Given the description of an element on the screen output the (x, y) to click on. 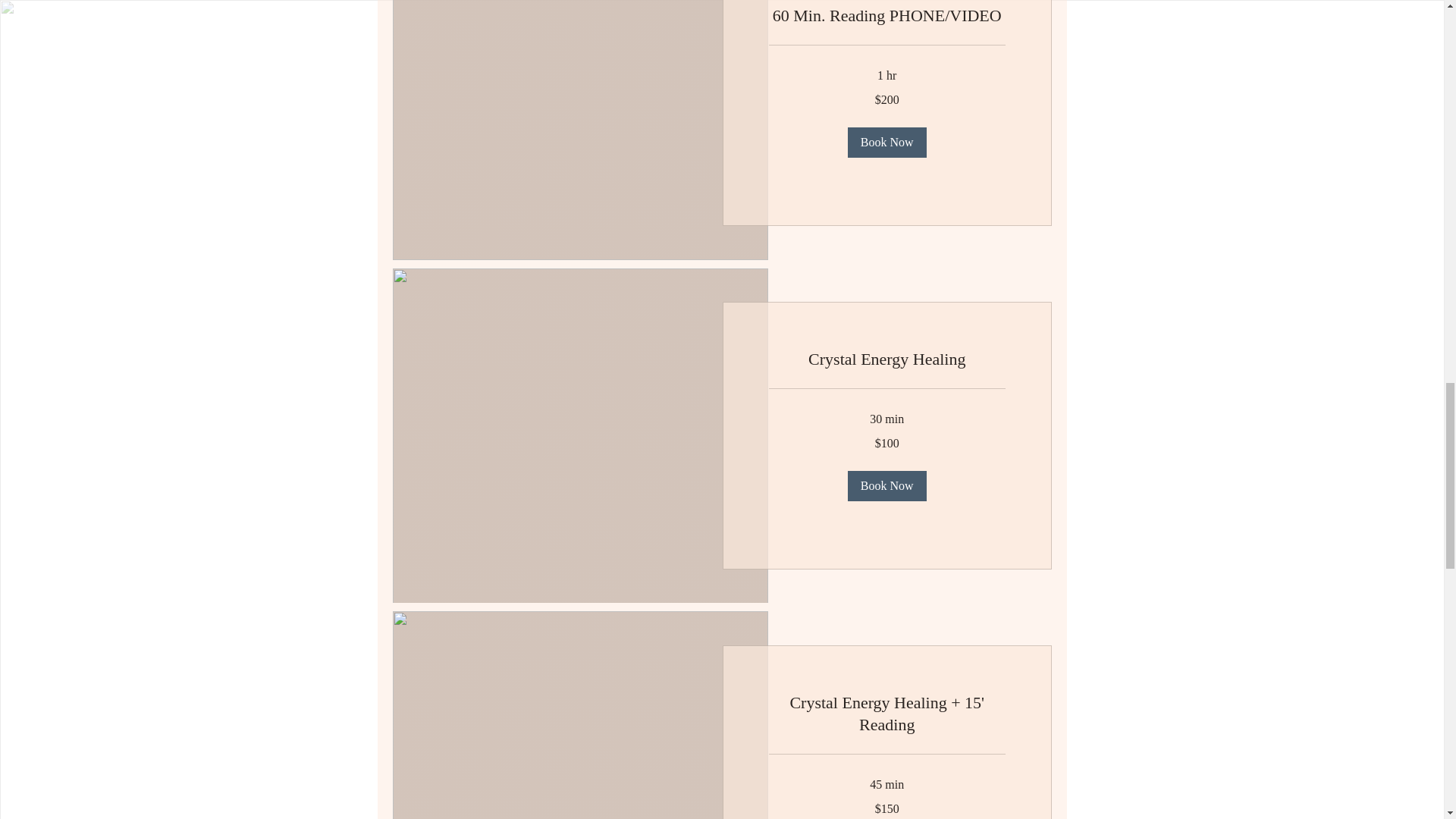
Book Now (886, 485)
Book Now (886, 142)
Crystal Energy Healing (887, 359)
